Given the description of an element on the screen output the (x, y) to click on. 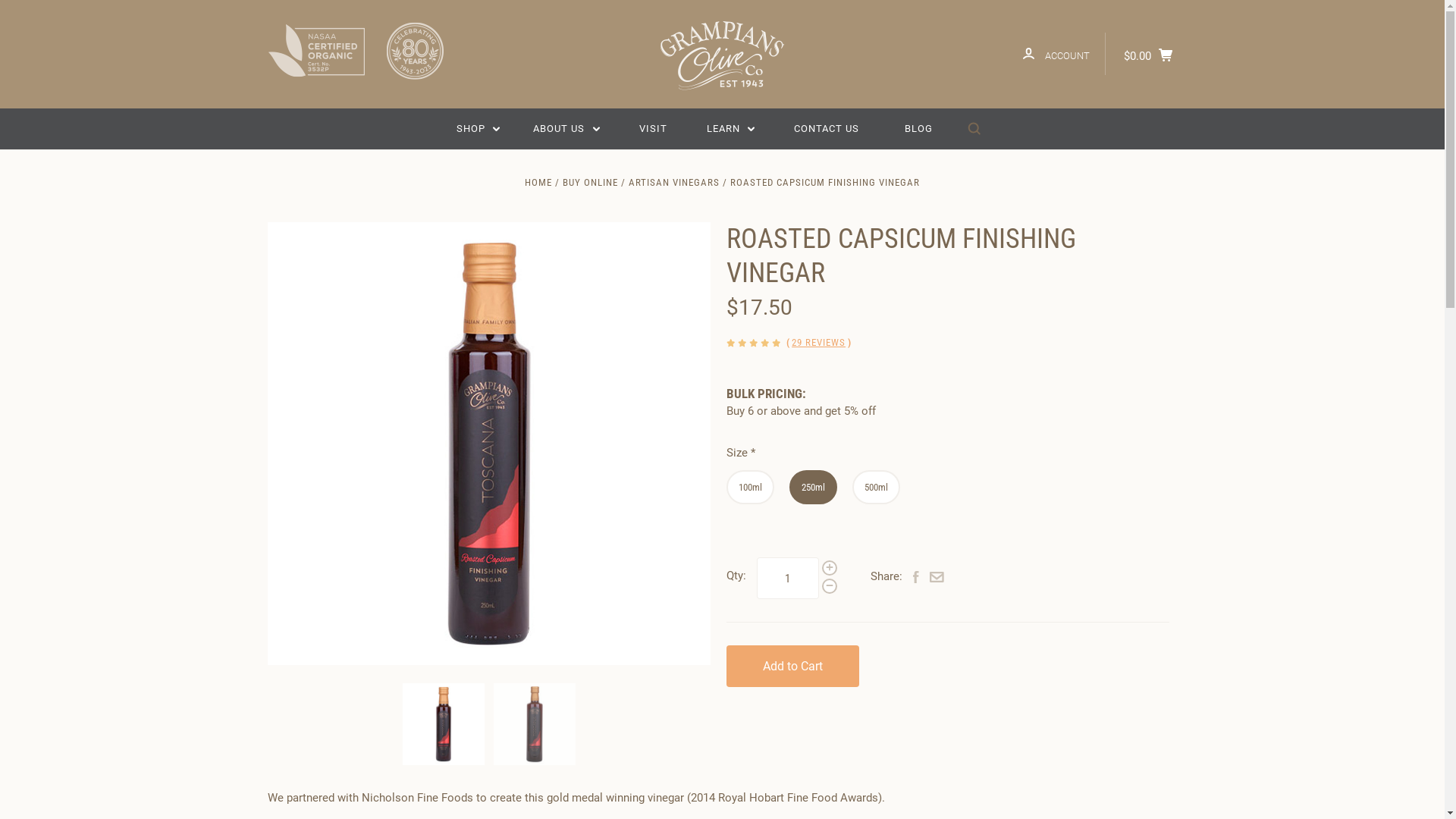
email Element type: text (936, 578)
HOME Element type: text (538, 182)
awards Element type: hover (358, 50)
ABOUT US DROPDOWN_ARROW Element type: text (566, 128)
ACCOUNT ACCOUNT Element type: text (1055, 53)
CONTACT US Element type: text (826, 128)
LEARN DROPDOWN_ARROW Element type: text (730, 128)
500ml bottle roasted capsicum vinegar Element type: hover (534, 724)
ROASTED CAPSICUM FINISHING VINEGAR Element type: text (824, 182)
VISIT Element type: text (653, 128)
250ml bottle roasted capsicum vinegar Element type: hover (443, 724)
SHOP DROPDOWN_ARROW Element type: text (478, 128)
$0.00 cart Element type: text (1150, 53)
ARTISAN VINEGARS Element type: text (673, 182)
BLOG Element type: text (918, 128)
search_icon Element type: text (974, 129)
facebook Element type: text (916, 579)
BUY ONLINE Element type: text (590, 182)
250ml bottle roasted capsicum vinegar Element type: hover (488, 443)
Add to Cart Element type: text (792, 666)
29 REVIEWS Element type: text (818, 342)
